Given the description of an element on the screen output the (x, y) to click on. 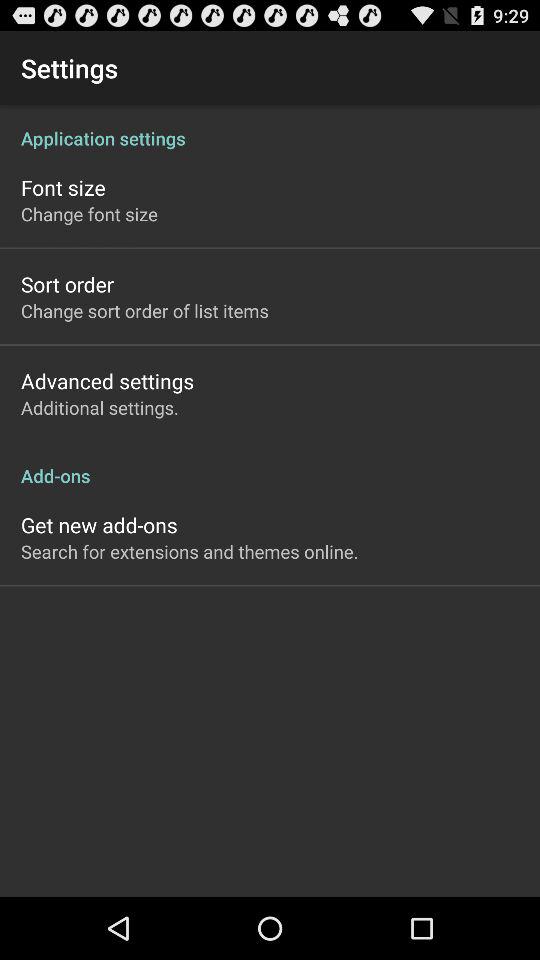
flip until the get new add app (99, 524)
